Given the description of an element on the screen output the (x, y) to click on. 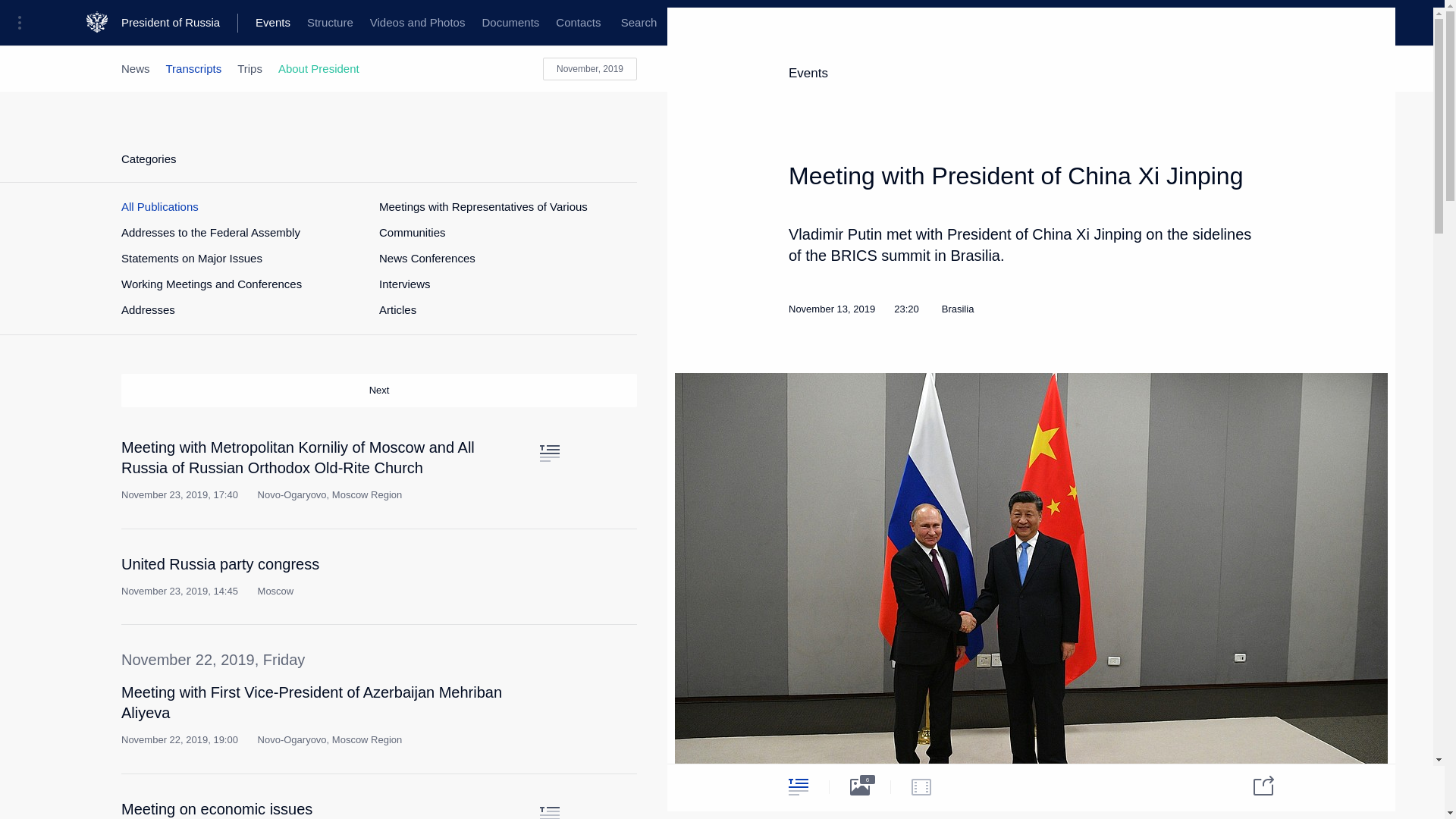
News Conferences (427, 258)
Portal Menu (24, 22)
Addresses to the Federal Assembly (209, 232)
Global website search (638, 22)
Text of the article (549, 453)
Interviews (404, 284)
Videos and Photos (417, 22)
All Publications (159, 207)
Text of the article (549, 569)
State Council (378, 22)
Next (378, 390)
Events (321, 576)
Transcripts (272, 22)
Security Council (194, 68)
